Given the description of an element on the screen output the (x, y) to click on. 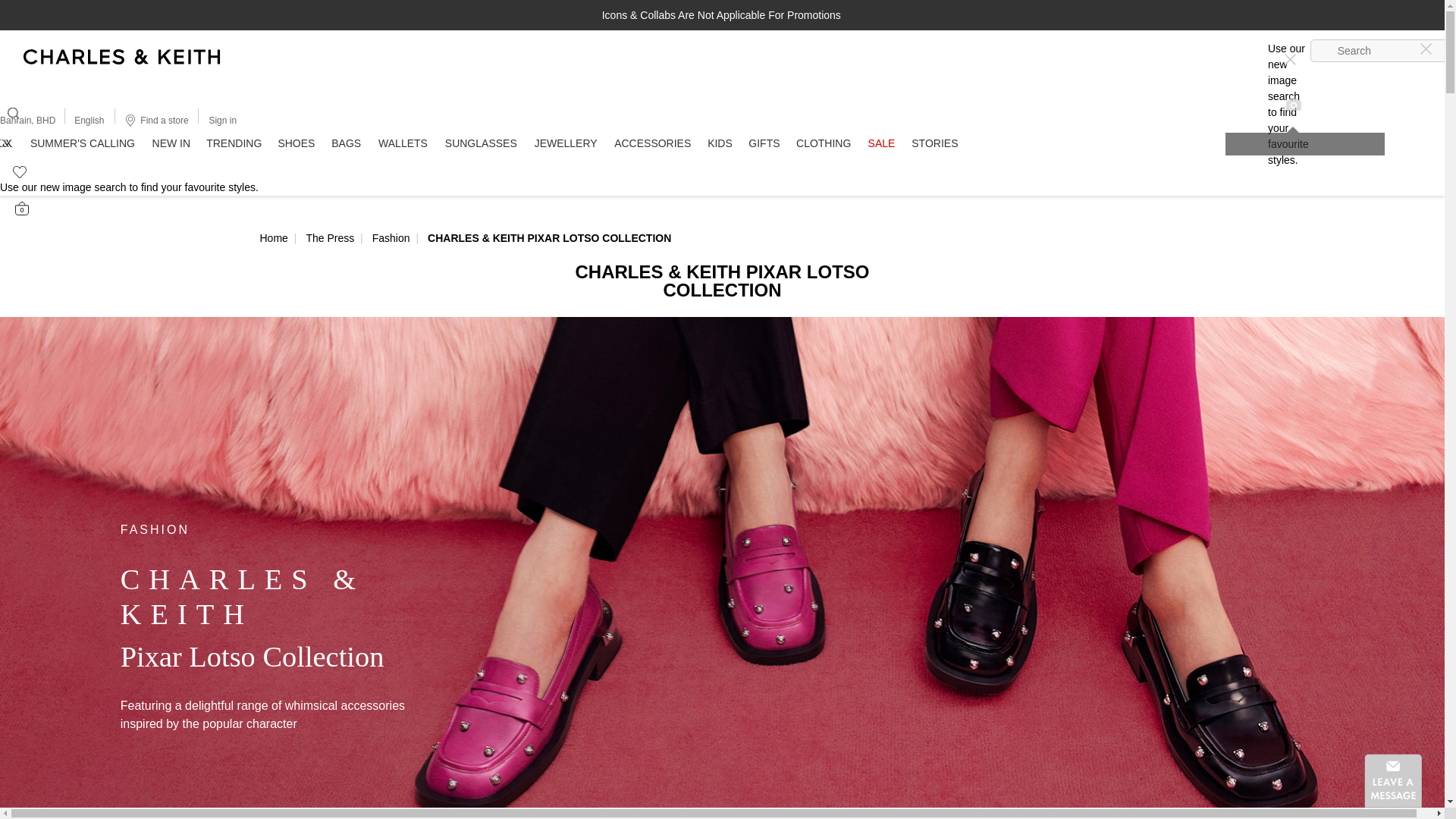
SALE (880, 143)
STORIES (935, 143)
wishlist (13, 169)
SHOES (296, 143)
KIDS (719, 143)
View Cart (21, 208)
CLOTHING (823, 143)
ACCESSORIES (651, 143)
TRENDING (233, 143)
SUNGLASSES (480, 143)
Find a store (155, 120)
WALLETS (402, 143)
Sign in (221, 120)
JEWELLERY (565, 143)
GIFTS (764, 143)
